Given the description of an element on the screen output the (x, y) to click on. 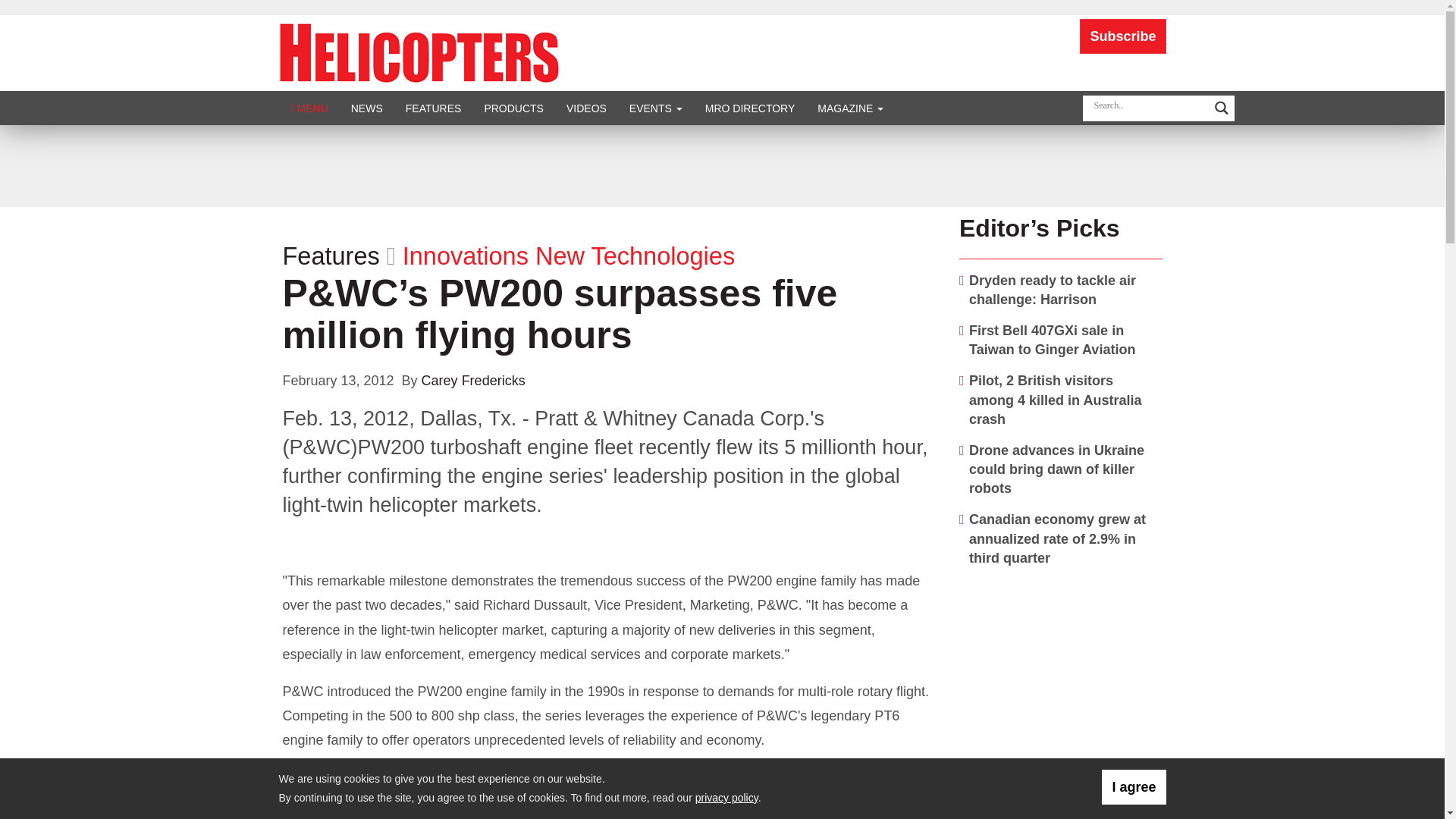
EVENTS (655, 107)
MENU (309, 107)
Helicopters Magazine (419, 52)
MRO DIRECTORY (750, 107)
NEWS (366, 107)
Subscribe (1123, 36)
3rd party ad content (1060, 674)
MAGAZINE (850, 107)
VIDEOS (585, 107)
Click to show site navigation (309, 107)
PRODUCTS (512, 107)
3rd party ad content (721, 165)
FEATURES (433, 107)
